Given the description of an element on the screen output the (x, y) to click on. 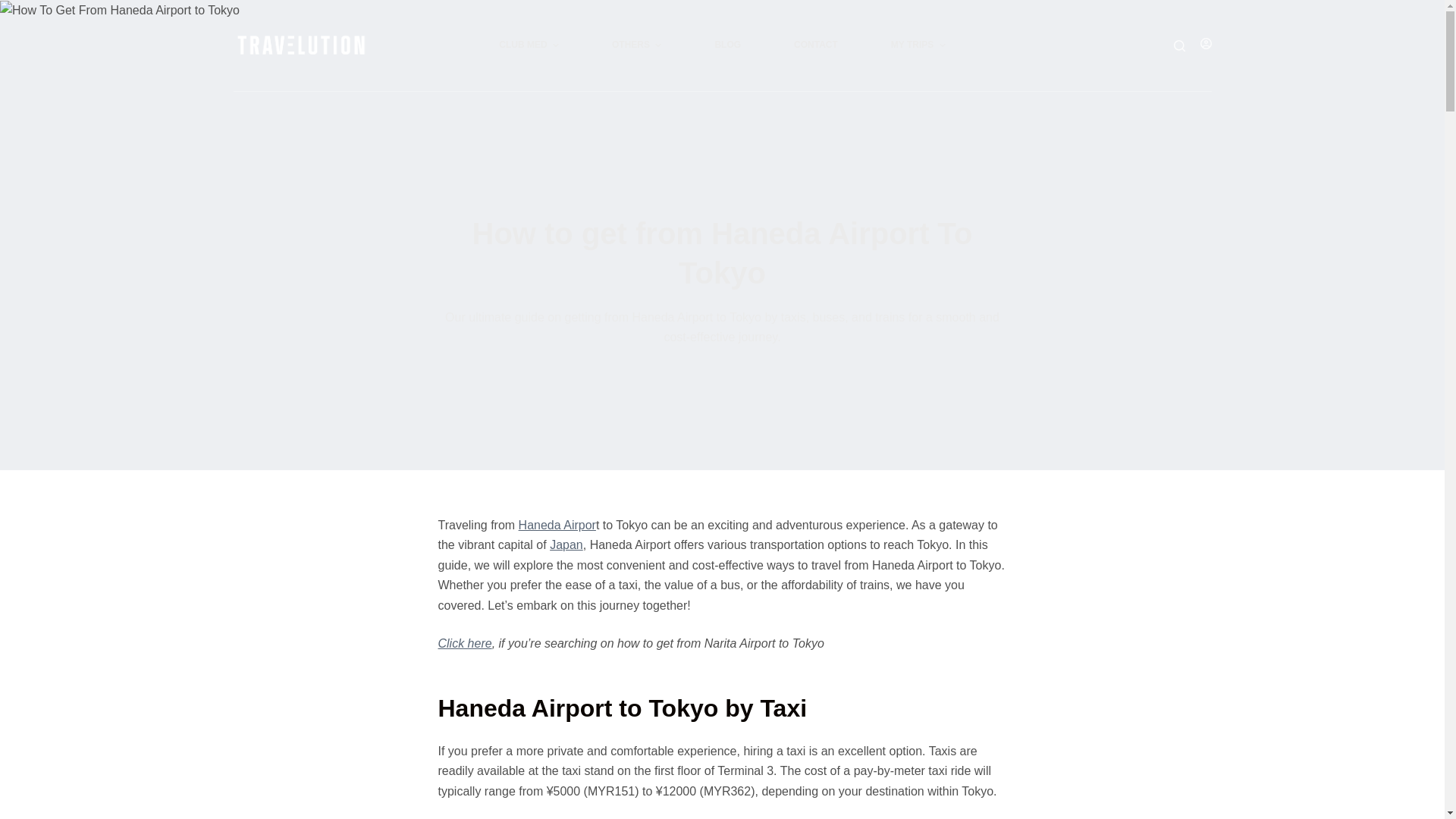
Skip to content (15, 7)
How to get from Haneda Airport To Tokyo (722, 252)
